Given the description of an element on the screen output the (x, y) to click on. 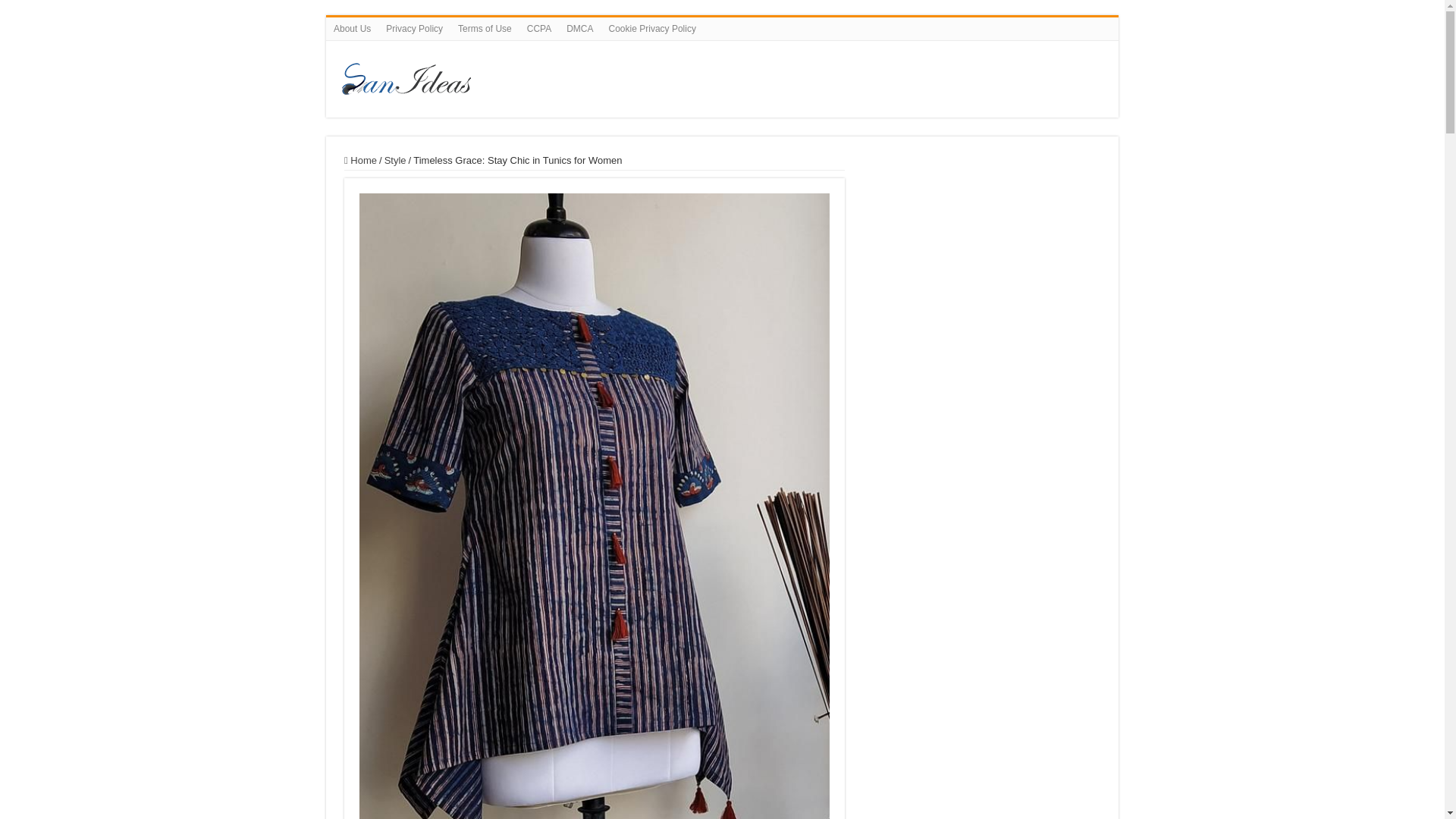
Privacy Policy (413, 28)
CCPA (539, 28)
DMCA (579, 28)
About Us (352, 28)
Terms of Use (484, 28)
Advertisement (982, 248)
Home (360, 160)
Cookie Privacy Policy (652, 28)
Style (395, 160)
sanideas.com (640, 76)
